Given the description of an element on the screen output the (x, y) to click on. 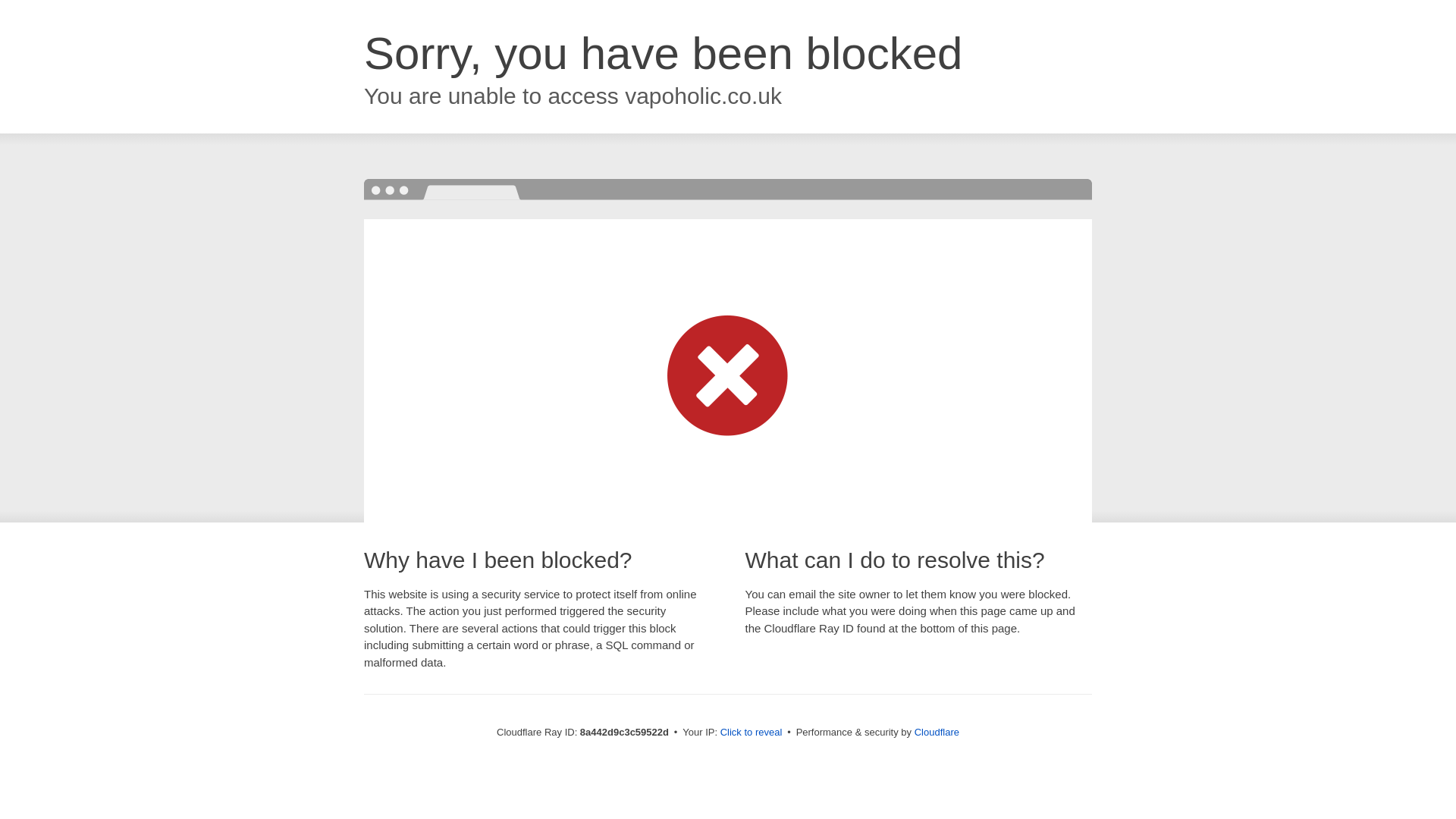
Click to reveal (751, 732)
Cloudflare (936, 731)
